Given the description of an element on the screen output the (x, y) to click on. 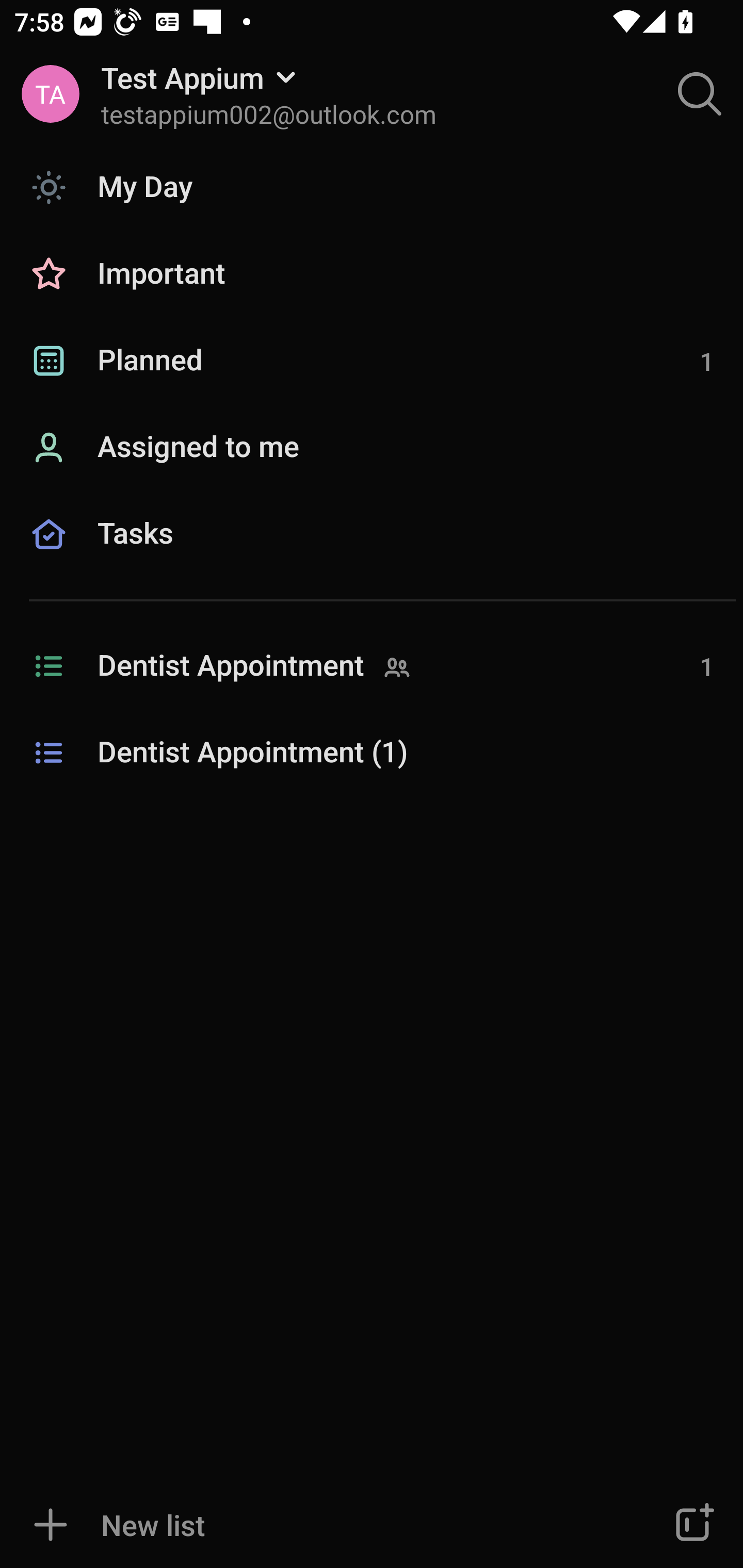
Enter search (699, 93)
My Day, 0 tasks My Day (371, 187)
Important, 0 tasks Important (371, 274)
Planned, 1 tasks Planned 1 (371, 361)
Assigned to me, 0 tasks Assigned to me (371, 447)
Tasks (371, 556)
Dentist Appointment (1) (371, 753)
New list (312, 1524)
Create group (692, 1524)
